Given the description of an element on the screen output the (x, y) to click on. 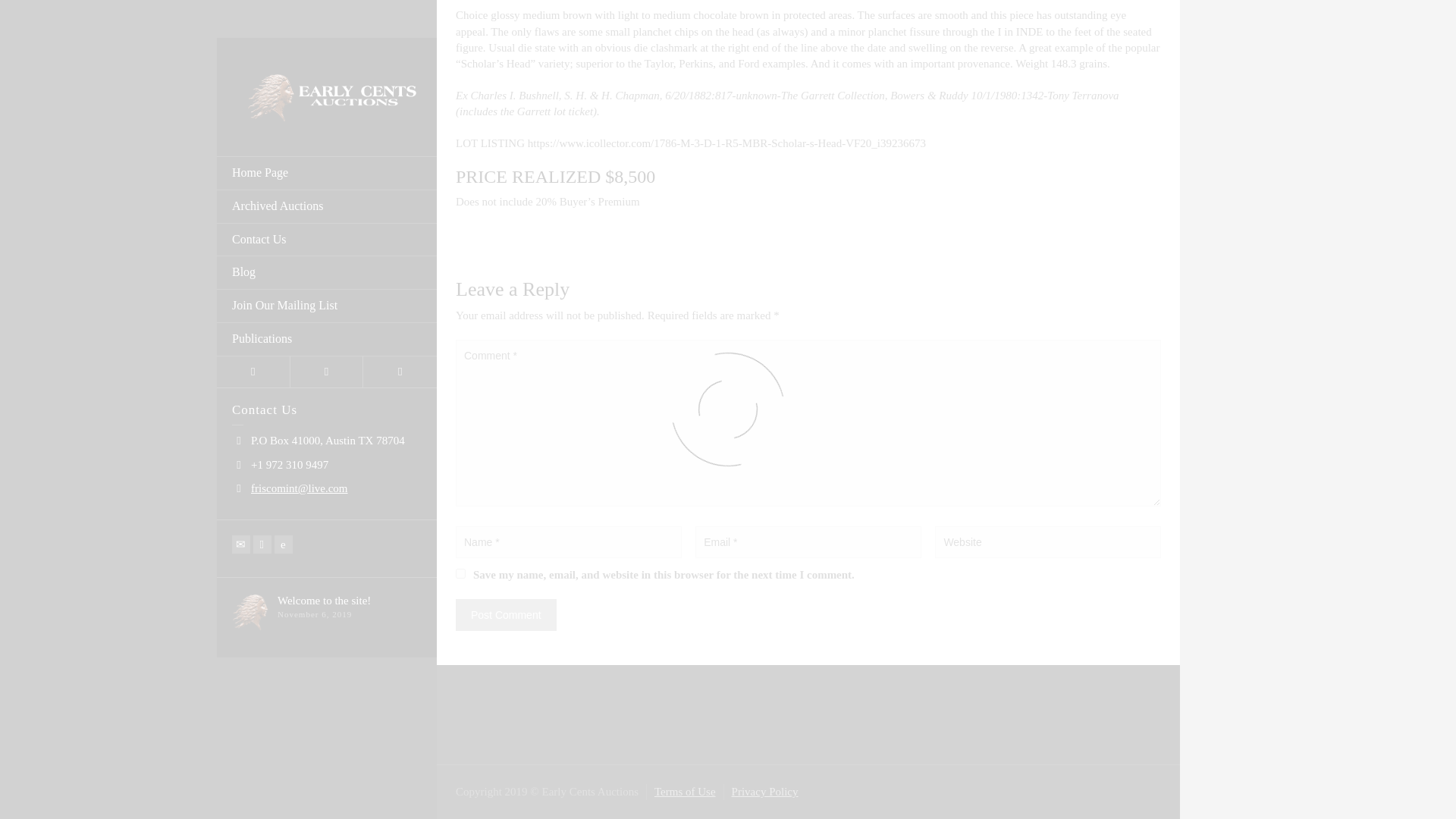
Email (240, 26)
Post Comment (505, 614)
Welcome to the site! (324, 82)
eBay (283, 26)
Facebook (261, 26)
Welcome to the site! (324, 82)
